Given the description of an element on the screen output the (x, y) to click on. 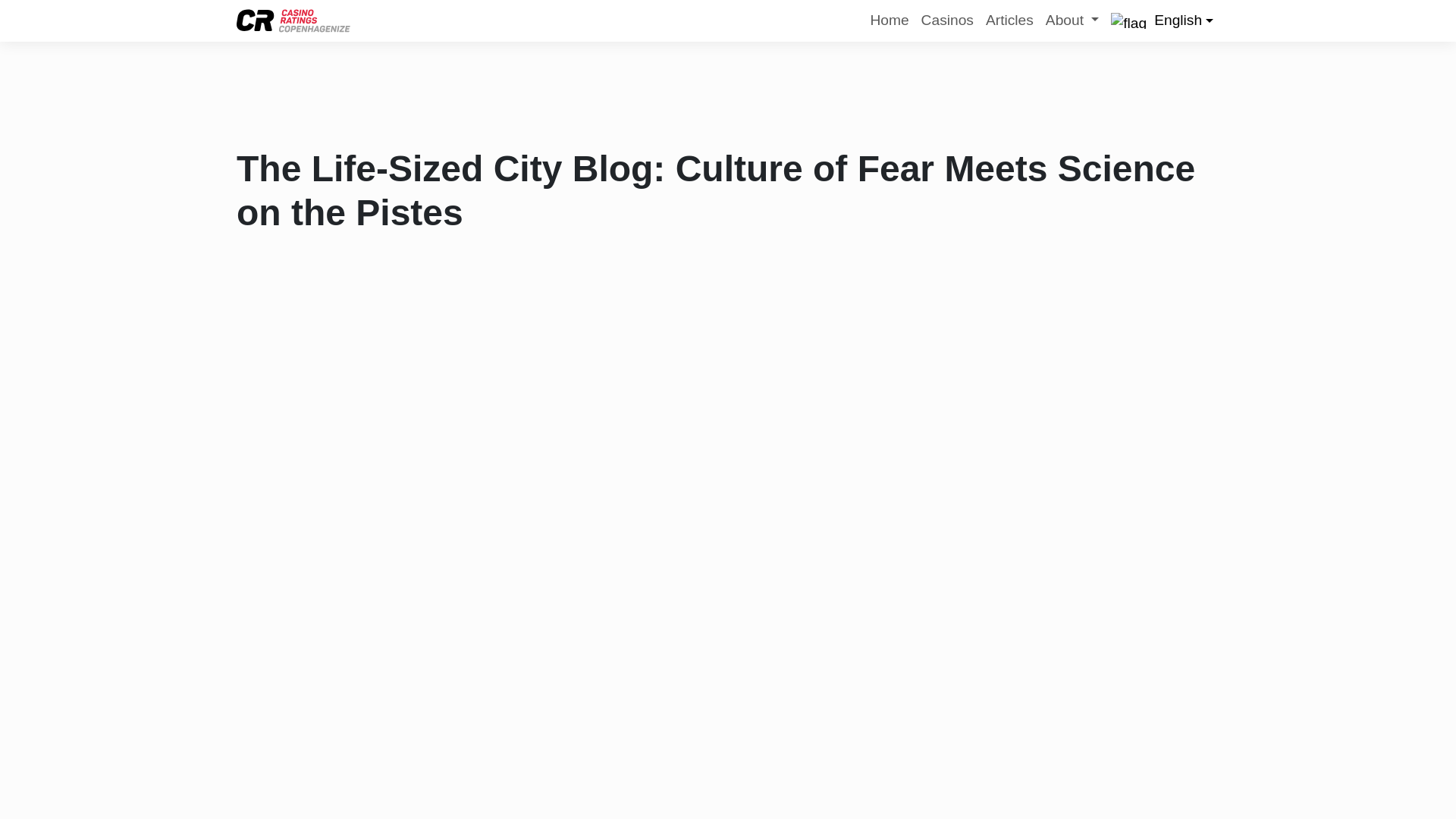
Articles (1009, 20)
About (1072, 20)
Home (888, 20)
Articles (1009, 20)
Casinos (947, 20)
English (1162, 20)
Casinos (947, 20)
Home (888, 20)
